Given the description of an element on the screen output the (x, y) to click on. 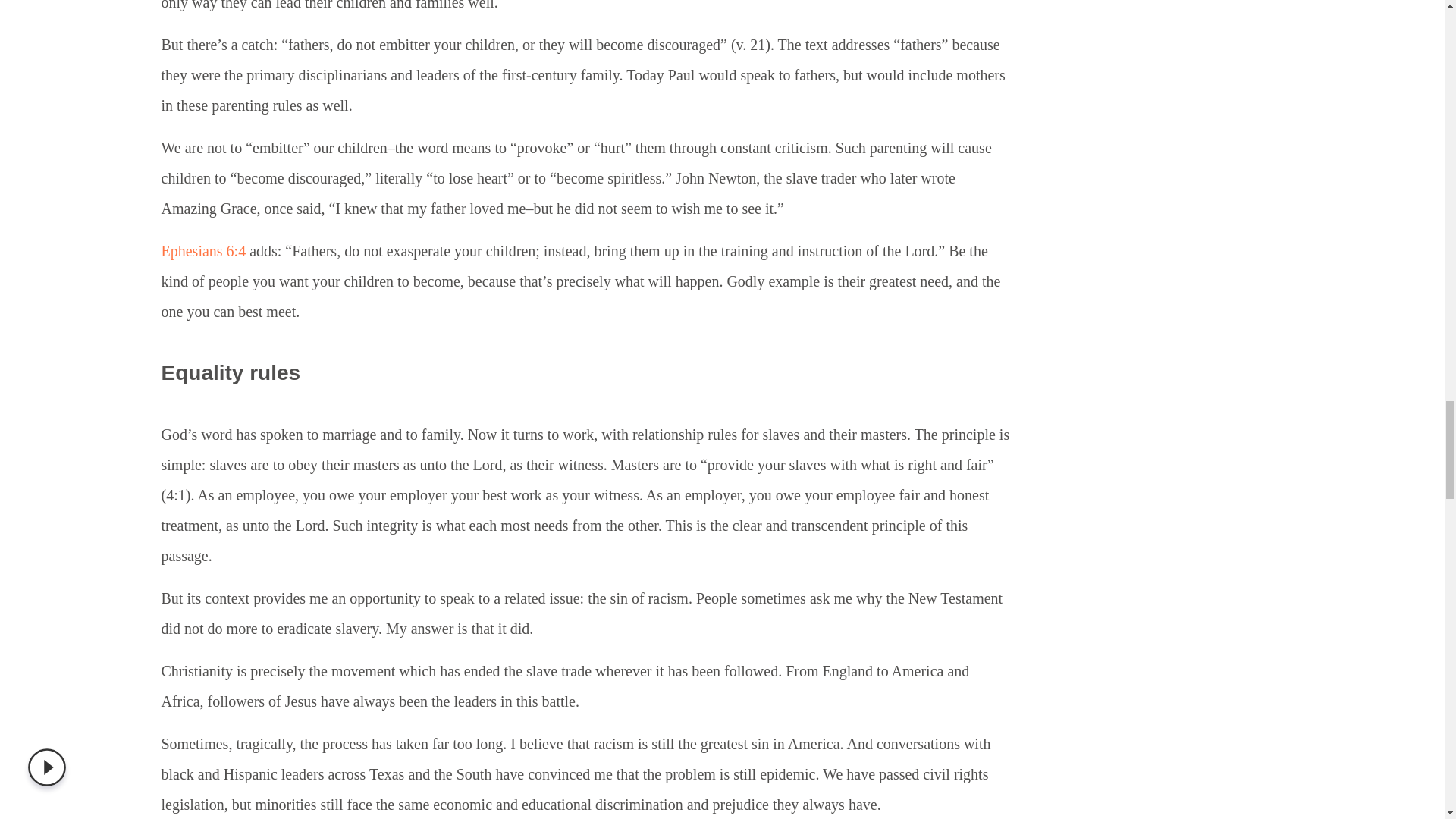
Ephesians 6:4 (203, 250)
